Given the description of an element on the screen output the (x, y) to click on. 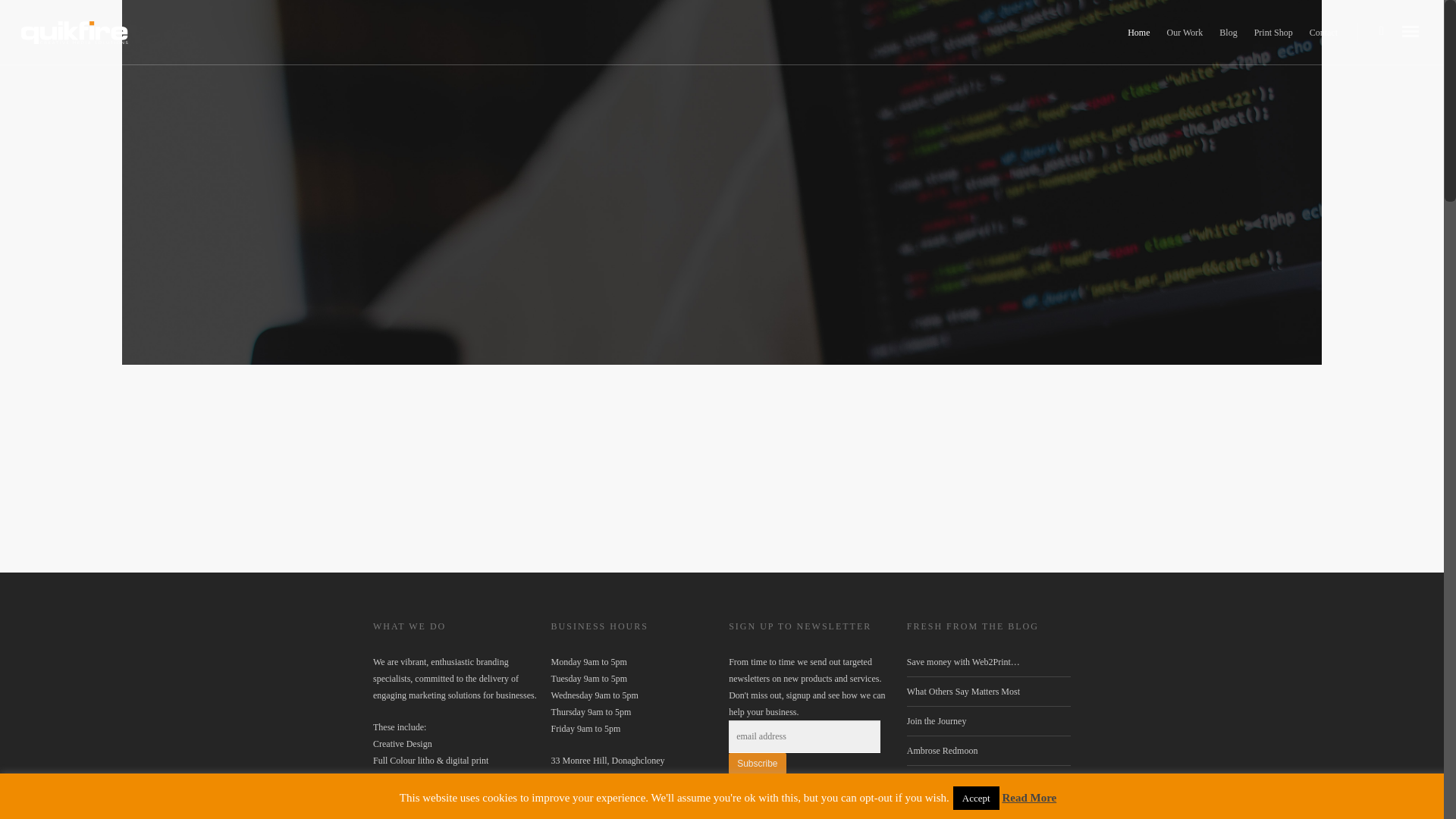
Subscribe (757, 762)
